Given the description of an element on the screen output the (x, y) to click on. 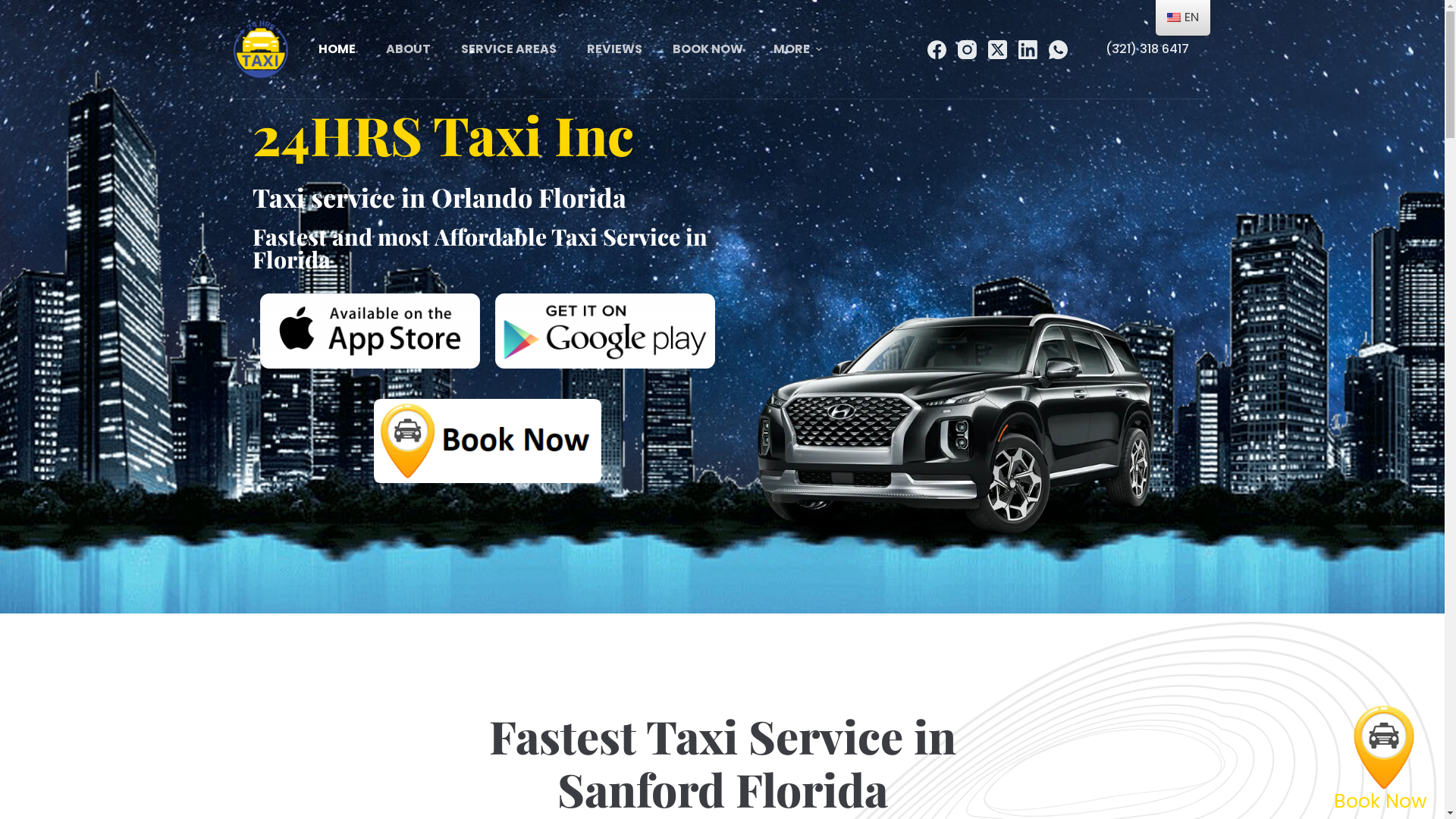
SERVICE AREAS Element type: text (508, 49)
HOME Element type: text (336, 49)
ABOUT Element type: text (407, 49)
(321) 318 6417 Element type: text (1146, 49)
MORE Element type: text (797, 49)
Book Now Element type: text (1383, 774)
BOOK NOW Element type: text (707, 49)
Skip to content Element type: text (15, 7)
English Element type: hover (1173, 16)
EN Element type: text (1182, 17)
REVIEWS Element type: text (614, 49)
